Given the description of an element on the screen output the (x, y) to click on. 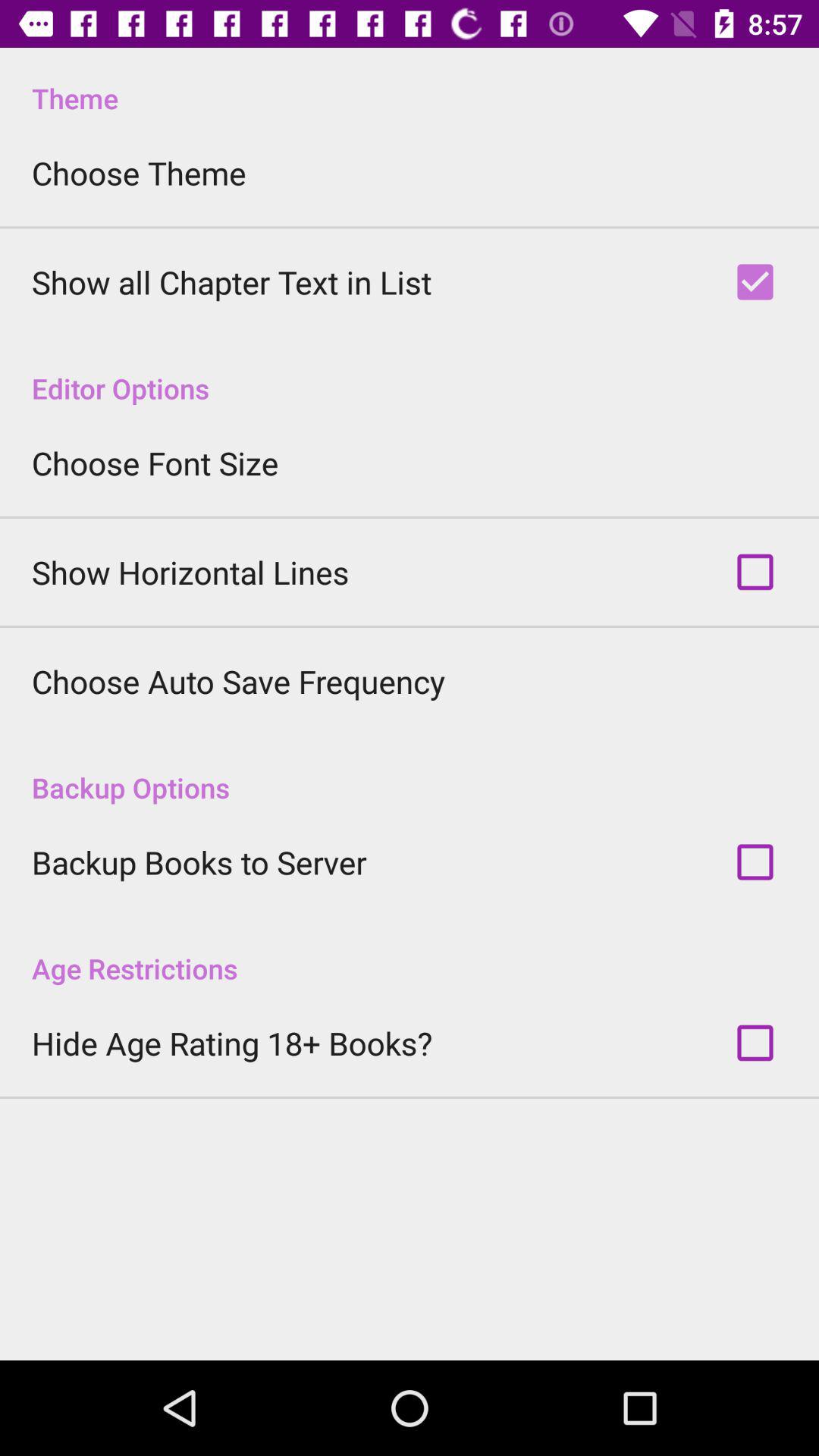
select the choose font size (154, 462)
